Given the description of an element on the screen output the (x, y) to click on. 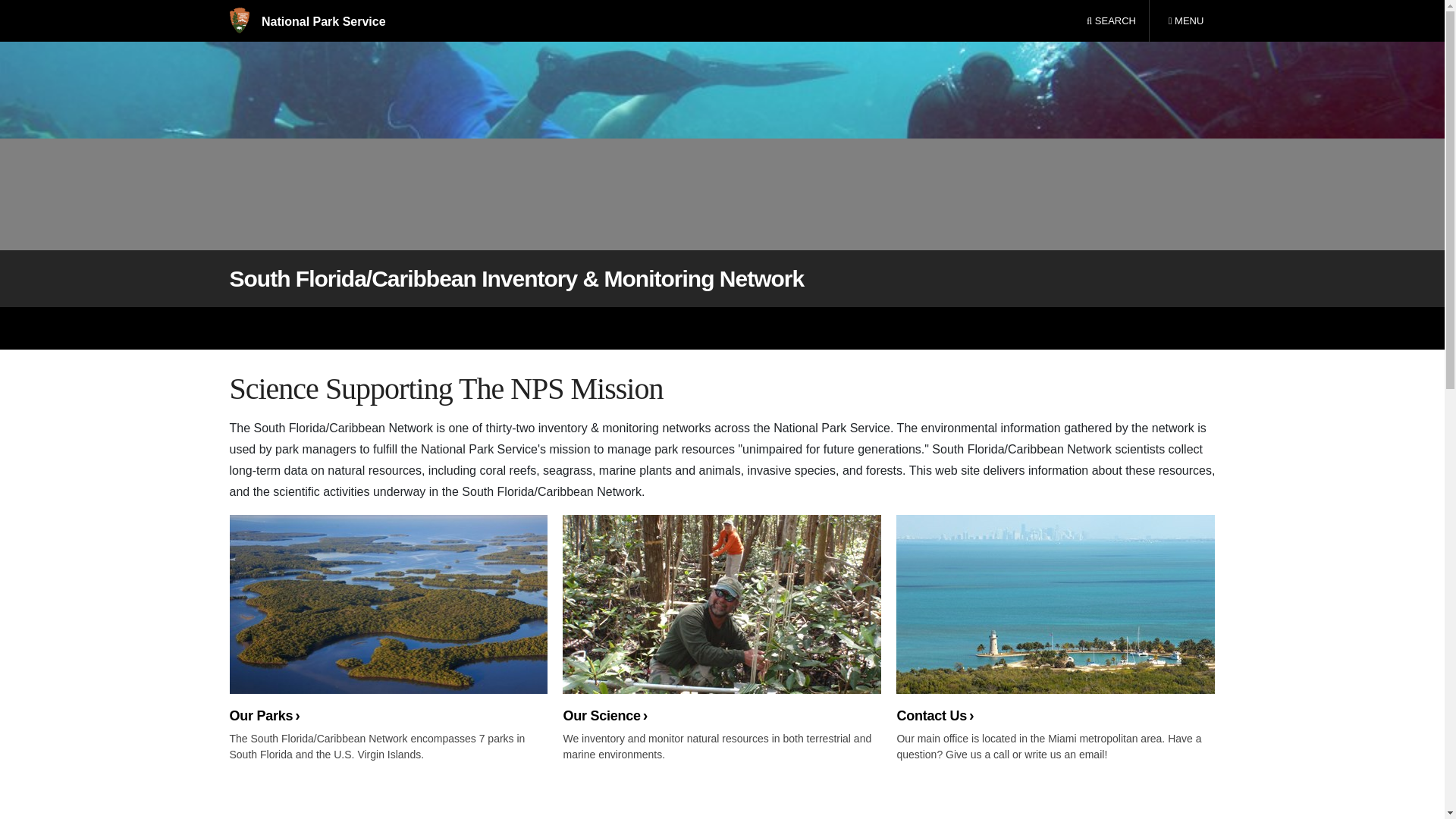
National Park Service (307, 20)
Contact Us (1055, 619)
Our Parks (1185, 20)
SEARCH (387, 619)
Our Science (1111, 20)
